Given the description of an element on the screen output the (x, y) to click on. 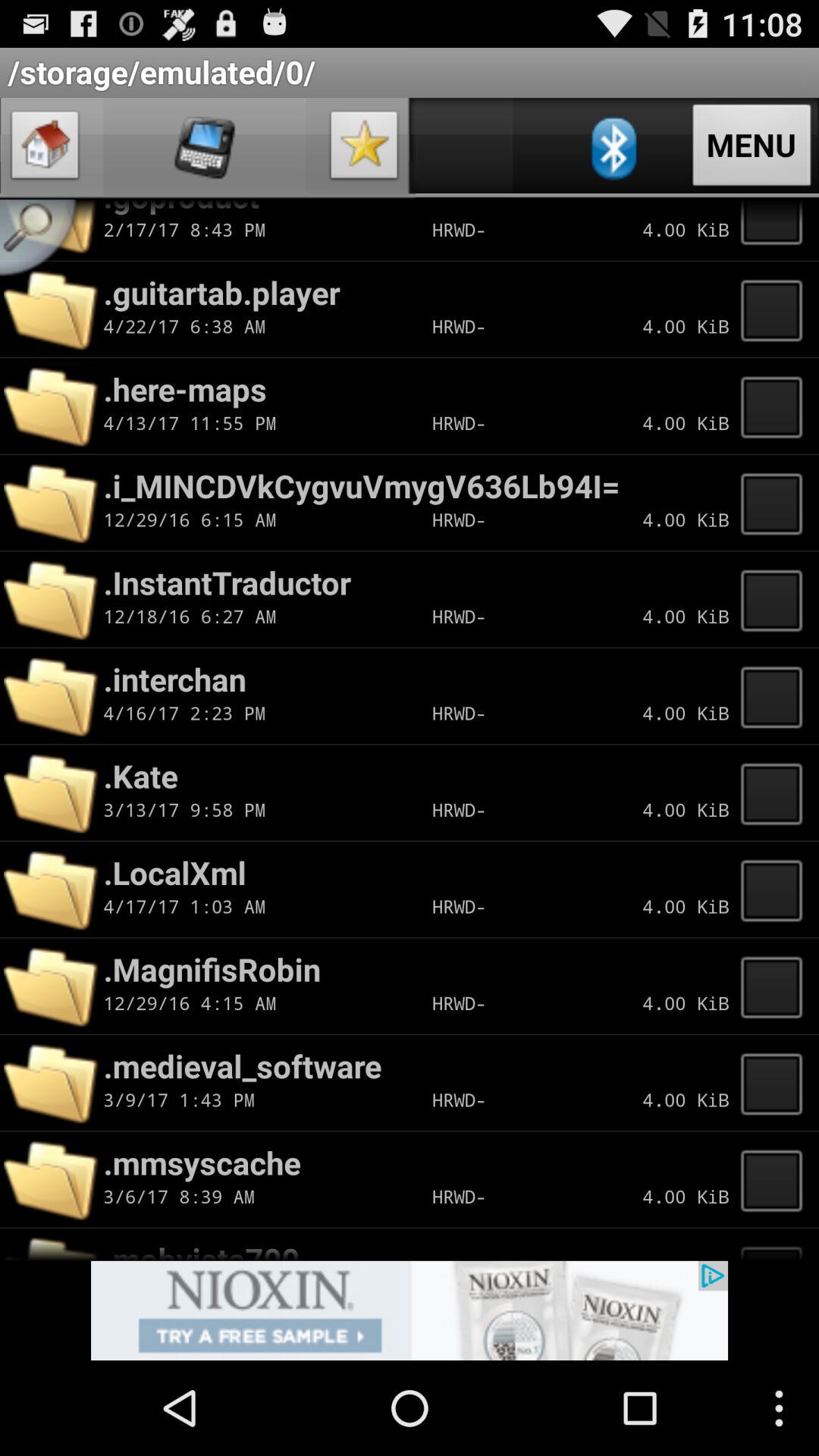
star symbol (363, 148)
